Given the description of an element on the screen output the (x, y) to click on. 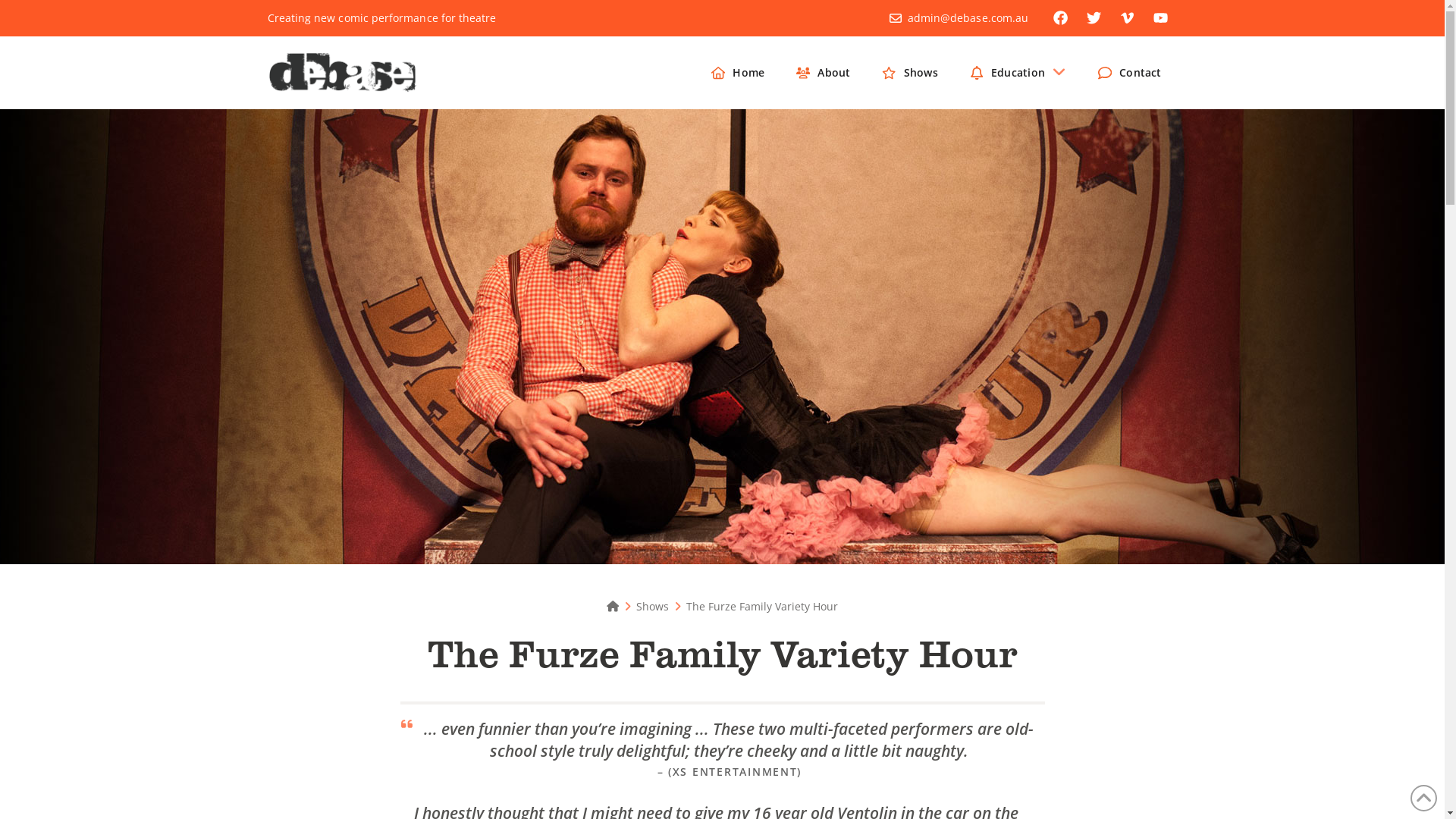
About Element type: text (823, 72)
Shows Element type: text (909, 72)
Back to Top Element type: hover (1423, 797)
The Furze Family Variety Hour Element type: text (761, 606)
Home Element type: text (737, 72)
admin@debase.com.au Element type: text (967, 17)
Education Element type: text (1017, 72)
Contact Element type: text (1129, 72)
Shows Element type: text (652, 606)
Home Element type: text (612, 606)
Subscribe Element type: text (722, 500)
